Given the description of an element on the screen output the (x, y) to click on. 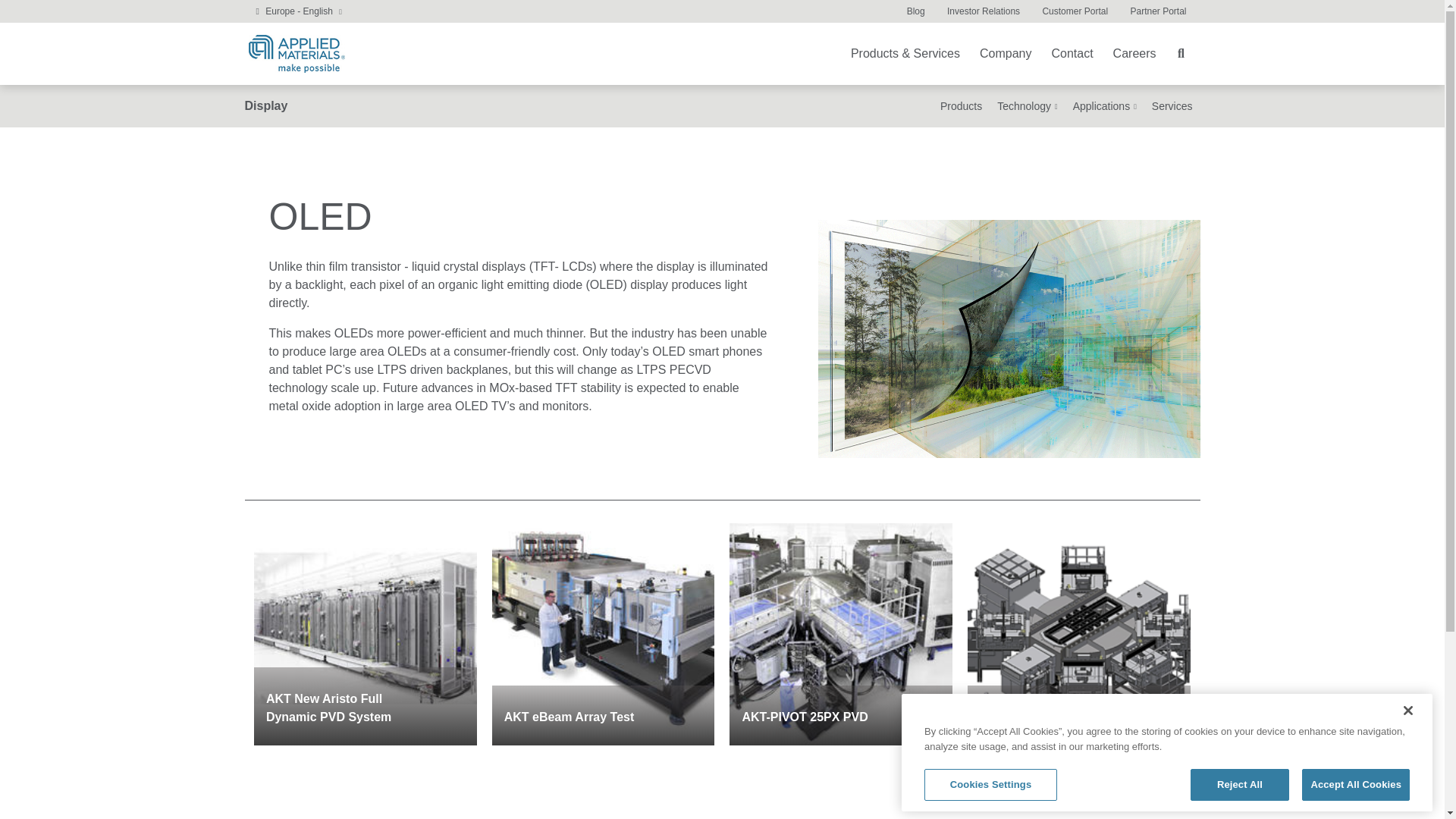
Europe - English (298, 11)
Partner Portal (1157, 11)
Investor Relations (983, 11)
Blog (915, 11)
Customer Portal (1075, 11)
